Given the description of an element on the screen output the (x, y) to click on. 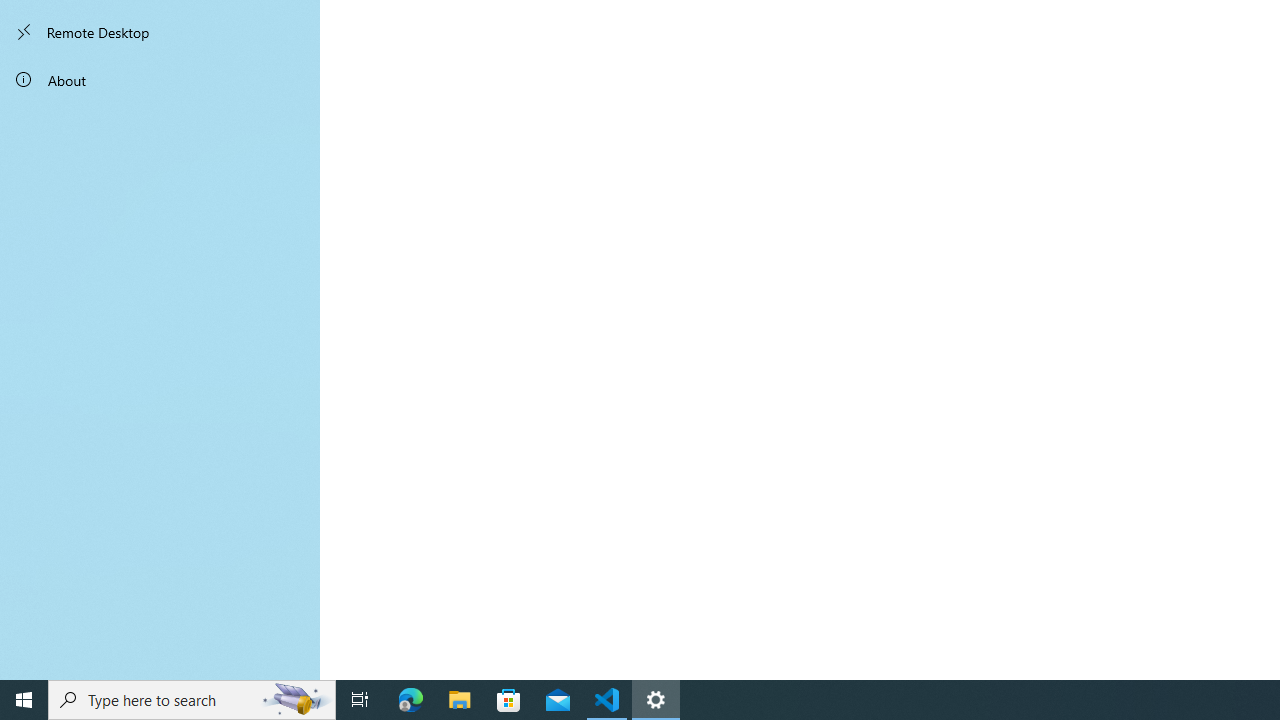
Remote Desktop (160, 31)
Microsoft Store (509, 699)
File Explorer (460, 699)
Task View (359, 699)
About (160, 79)
Search highlights icon opens search home window (295, 699)
Visual Studio Code - 1 running window (607, 699)
Microsoft Edge (411, 699)
Settings - 1 running window (656, 699)
Type here to search (191, 699)
Start (24, 699)
